Given the description of an element on the screen output the (x, y) to click on. 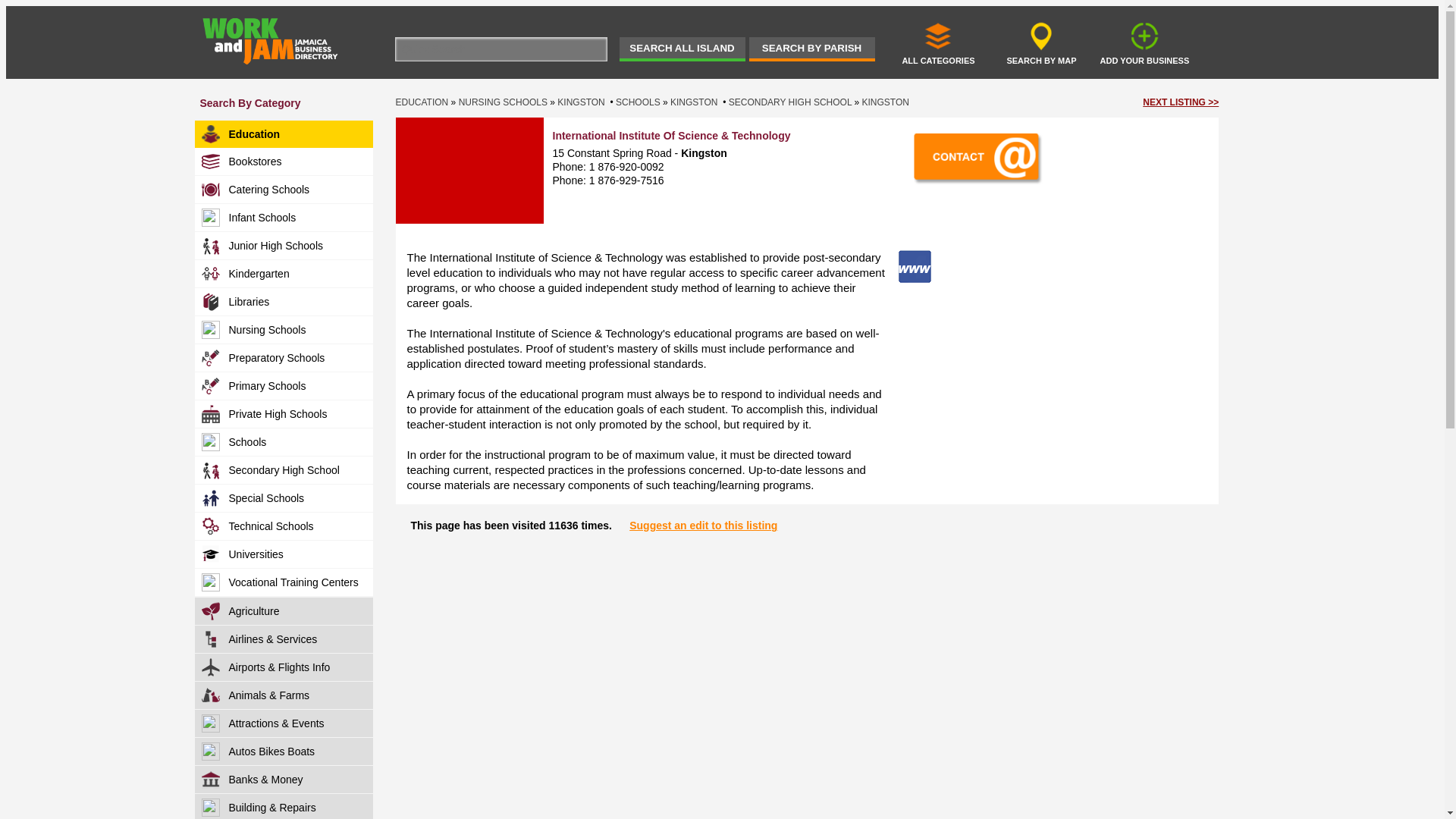
ADD YOUR BUSINESS (1144, 41)
SEARCH BY MAP (1041, 41)
SEARCH BY PARISH (812, 48)
SEARCH ALL ISLAND (681, 48)
ALL CATEGORIES (938, 41)
